Given the description of an element on the screen output the (x, y) to click on. 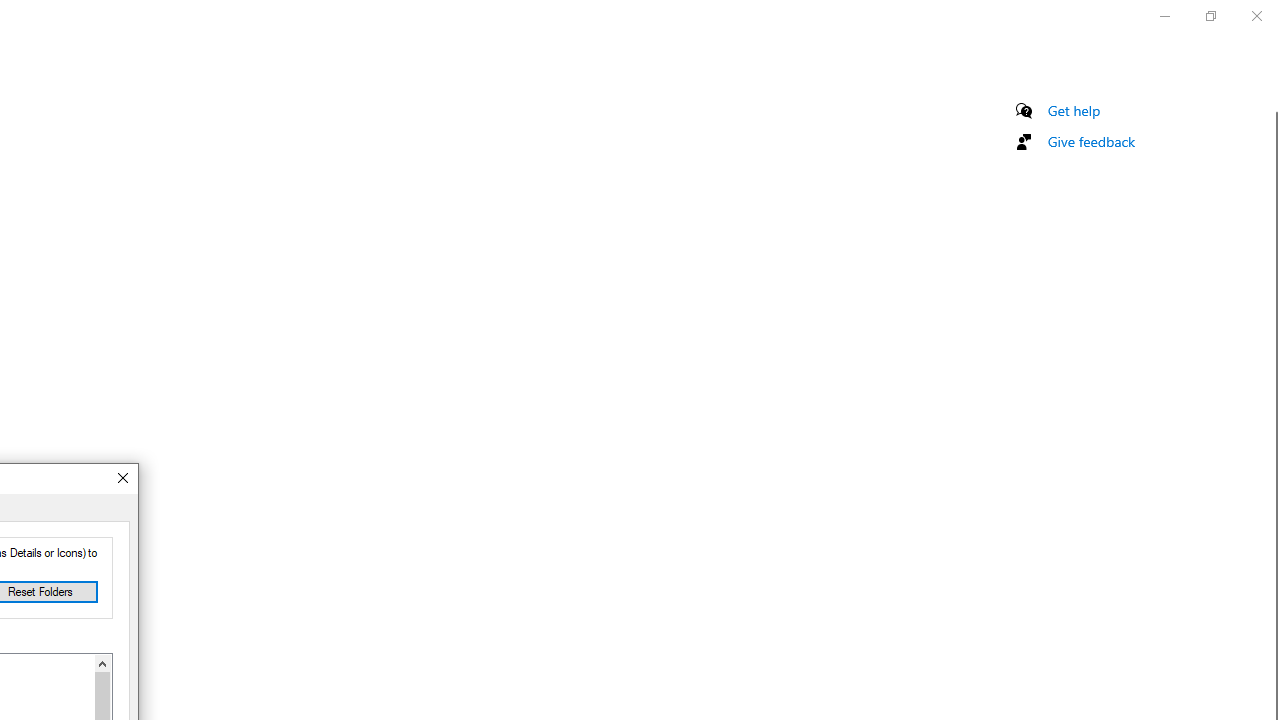
Line up (102, 663)
Close (121, 478)
